Given the description of an element on the screen output the (x, y) to click on. 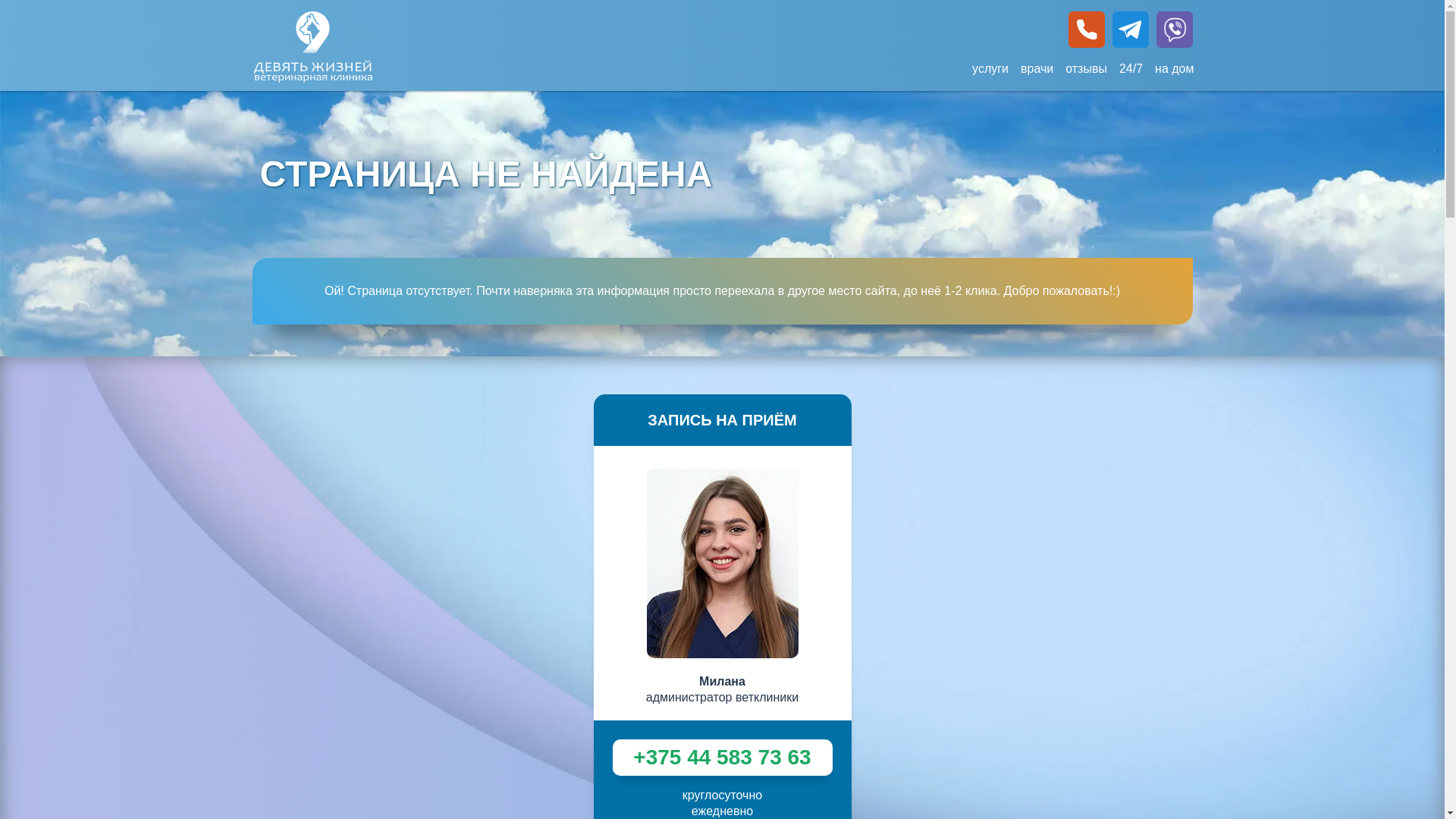
24/7 Element type: text (1130, 68)
+375 44 583 73 63 Element type: text (722, 757)
